Given the description of an element on the screen output the (x, y) to click on. 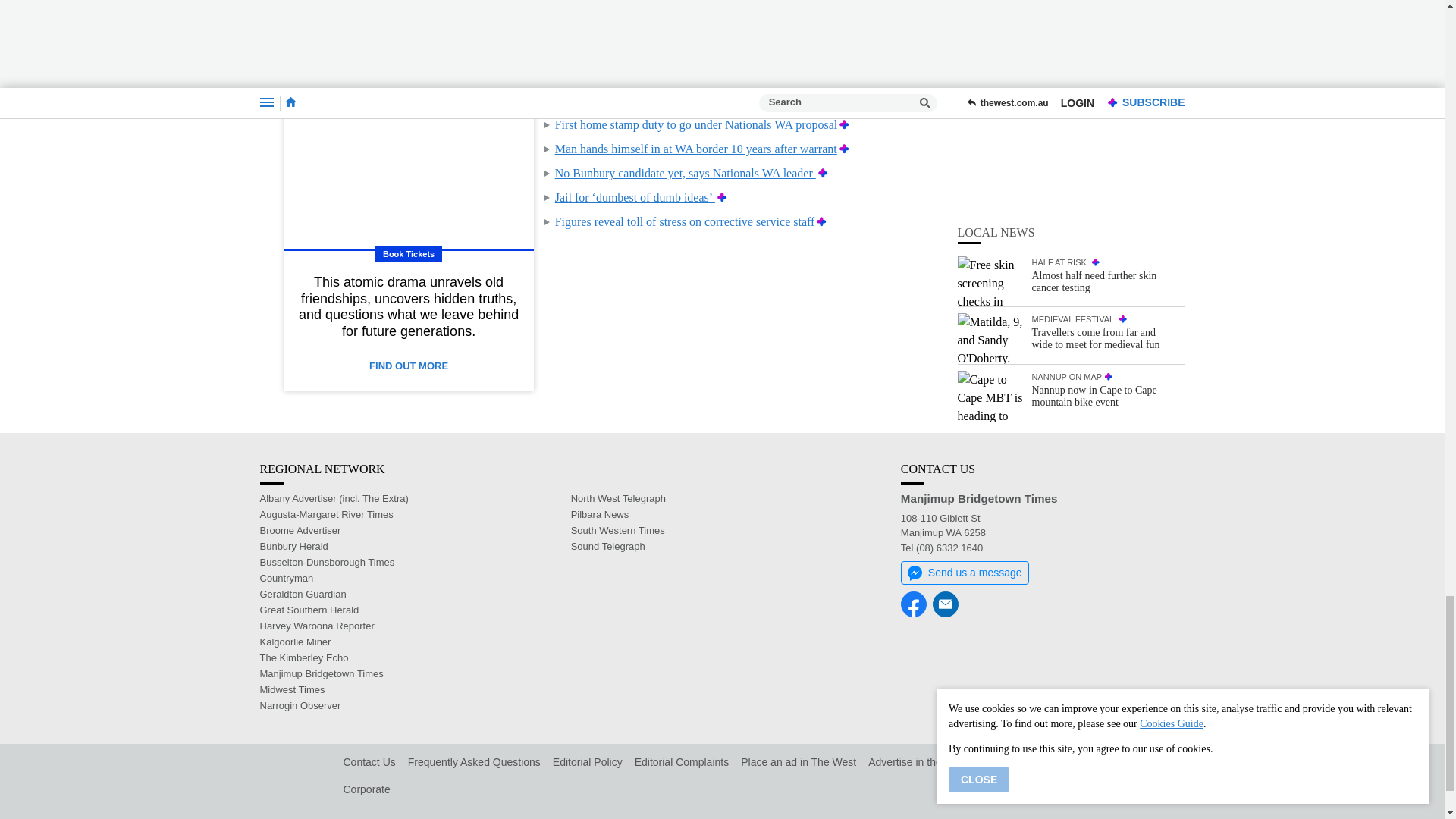
Premium (735, 100)
Premium (844, 124)
Premium (821, 221)
Premium (822, 173)
Premium (844, 148)
Premium (722, 196)
